Given the description of an element on the screen output the (x, y) to click on. 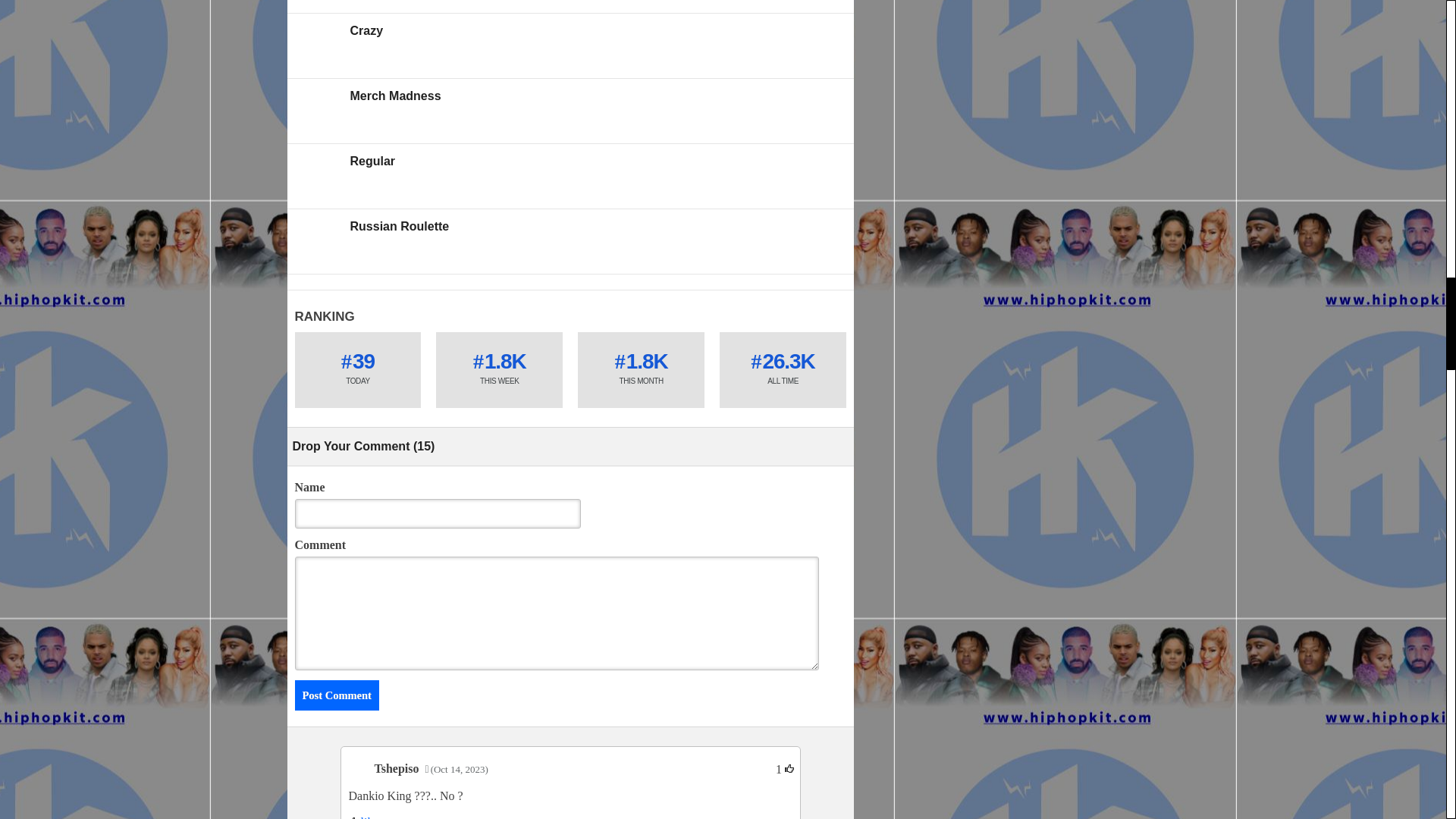
Post Comment (336, 695)
